Given the description of an element on the screen output the (x, y) to click on. 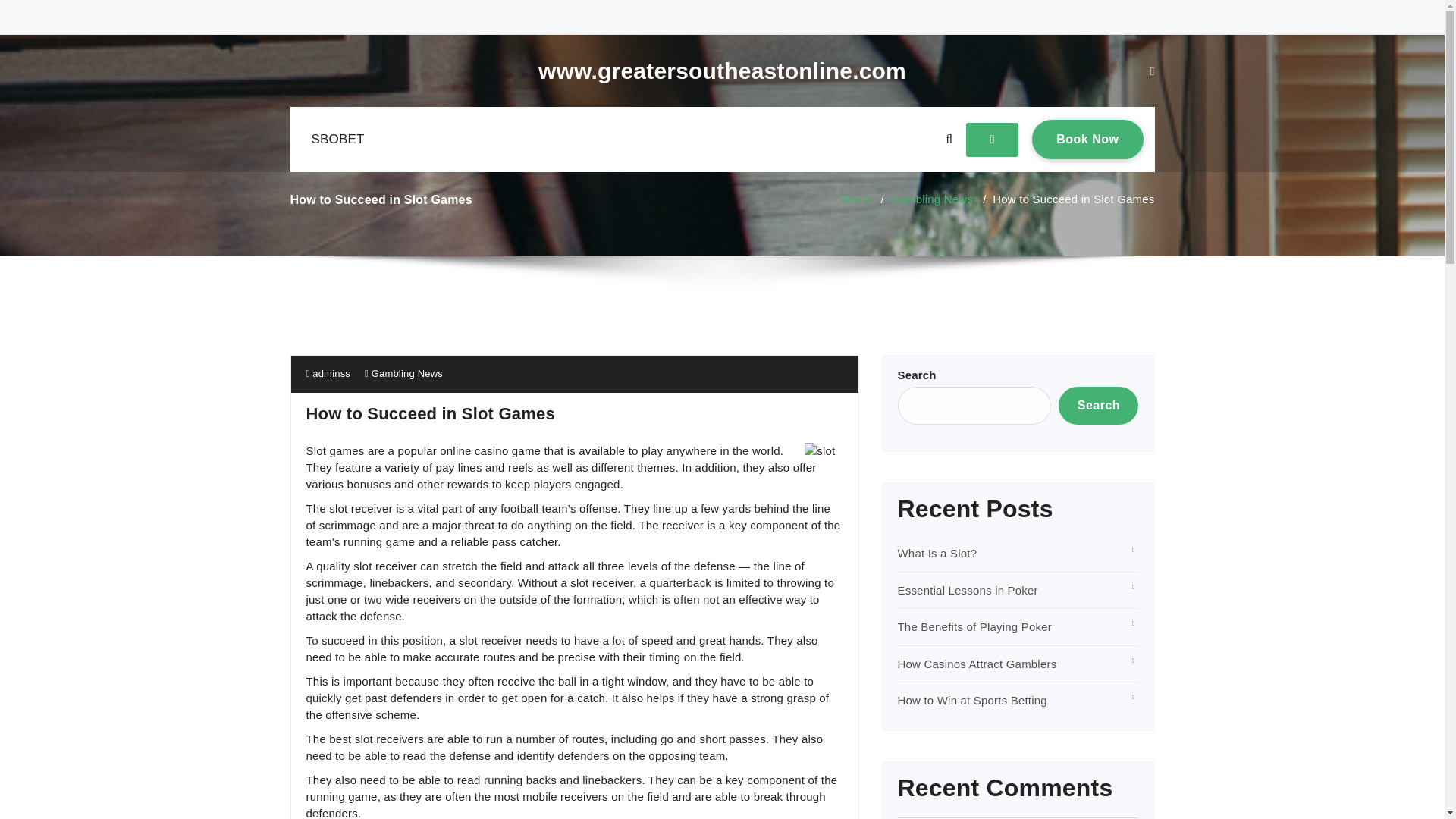
Home (855, 198)
Search (1098, 405)
Gambling News (1087, 138)
How Casinos Attract Gamblers (931, 198)
How to Win at Sports Betting (977, 663)
Gambling News (972, 699)
www.greatersoutheastonline.com (406, 373)
The Benefits of Playing Poker (721, 71)
adminss (974, 626)
